Given the description of an element on the screen output the (x, y) to click on. 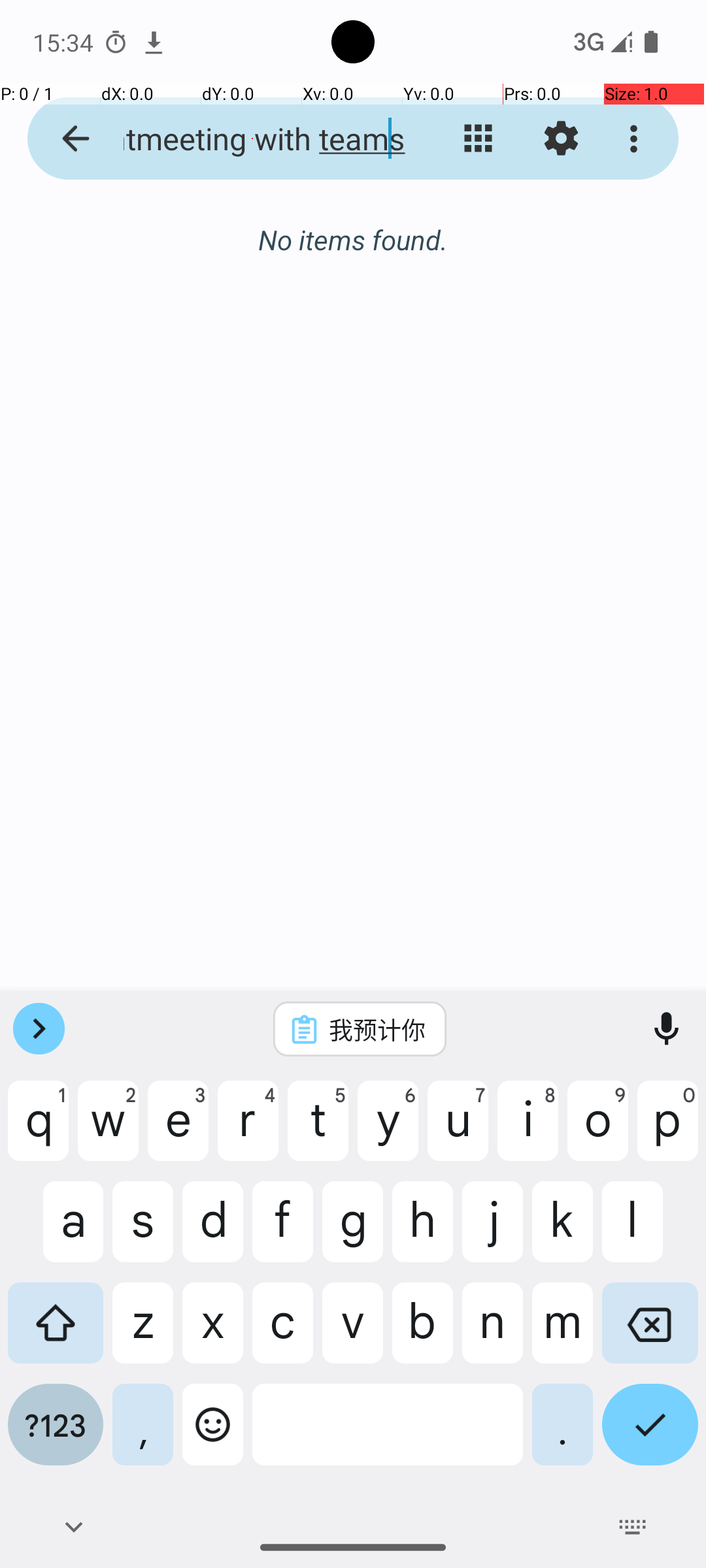
upcoming eventmeeting with teams this week Element type: android.widget.EditText (252, 138)
我预计你 Element type: android.widget.TextView (376, 1028)
